Given the description of an element on the screen output the (x, y) to click on. 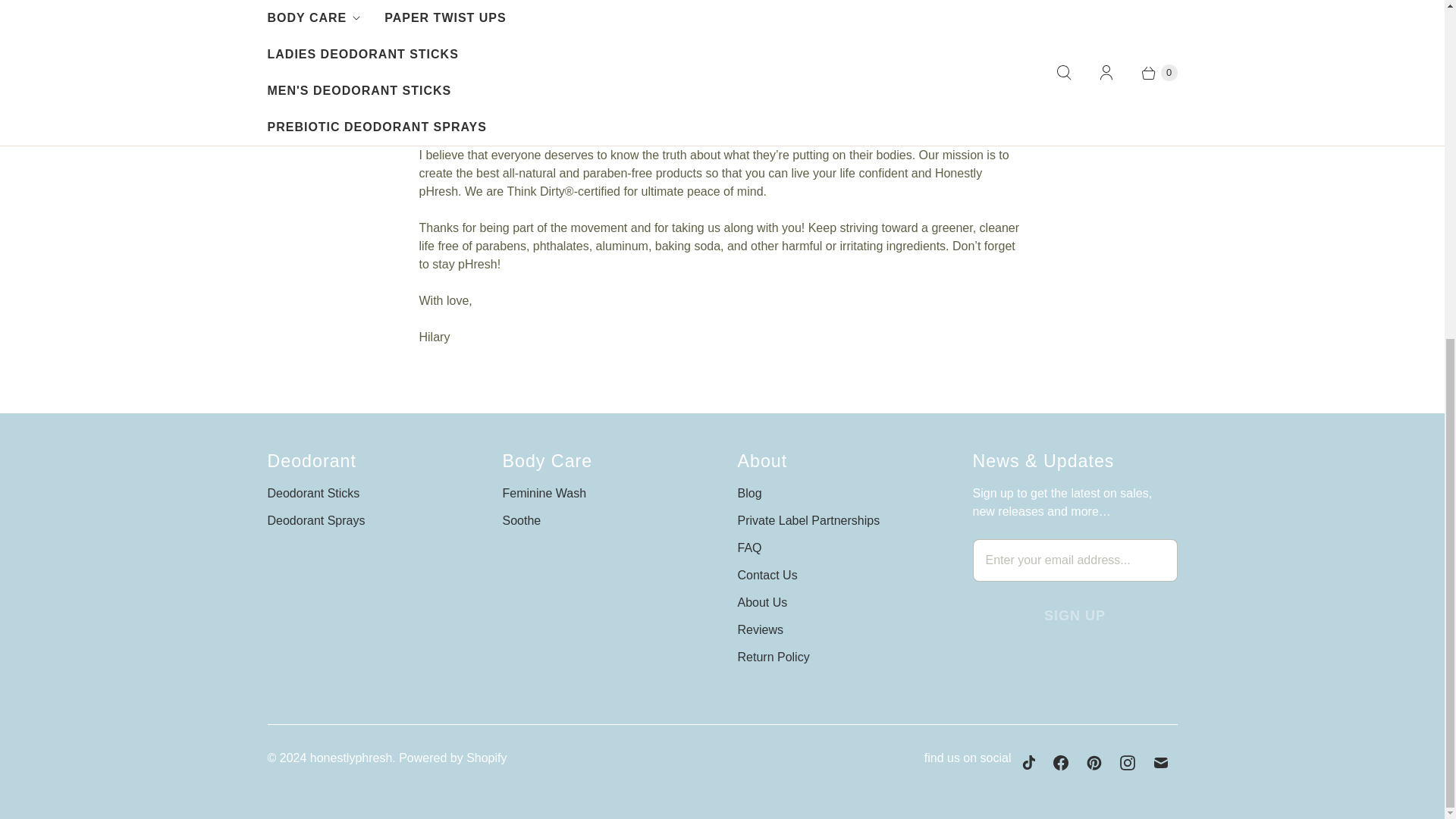
Feminine Wash (544, 492)
Sign Up (1074, 616)
Deodorant Sprays (315, 520)
Deodorant Sticks (312, 492)
Soothe (521, 520)
